Given the description of an element on the screen output the (x, y) to click on. 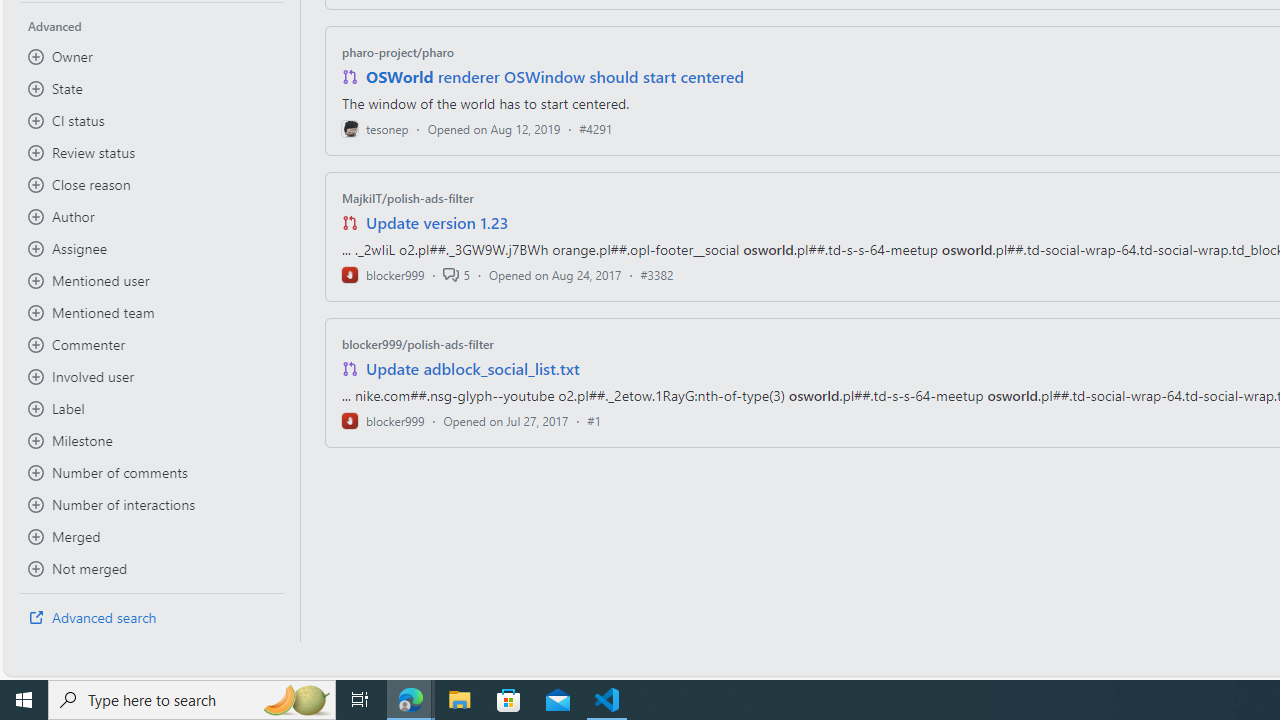
Update adblock_social_list.txt (472, 368)
#1 (594, 420)
blocker999/polish-ads-filter (417, 343)
#3382 (657, 273)
5 (455, 273)
Update version 1.23 (437, 222)
#3382 (657, 273)
